Given the description of an element on the screen output the (x, y) to click on. 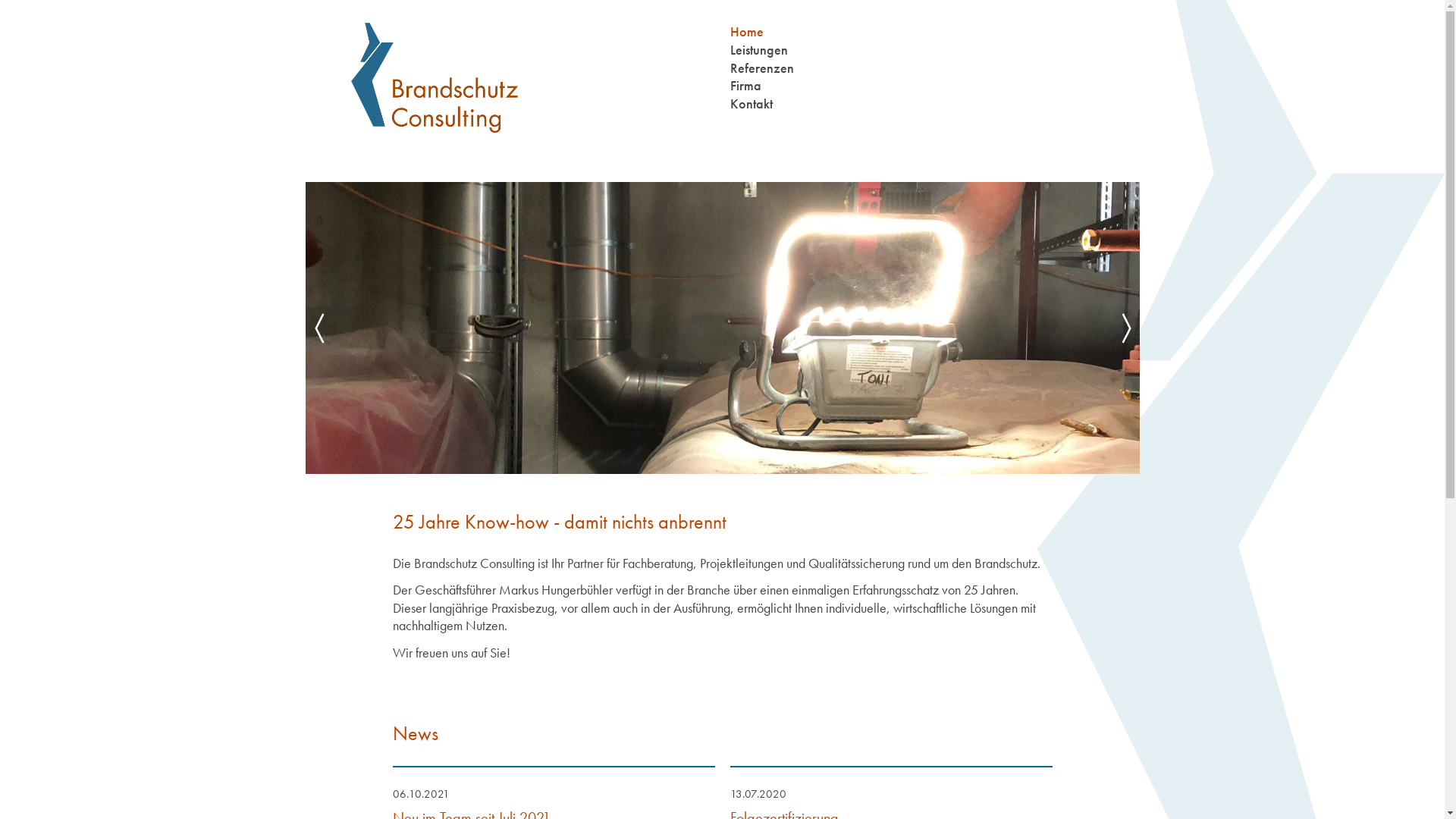
Firma Element type: text (744, 85)
Referenzen Element type: text (761, 67)
Leistungen Element type: text (758, 49)
Kontakt Element type: text (750, 103)
